Given the description of an element on the screen output the (x, y) to click on. 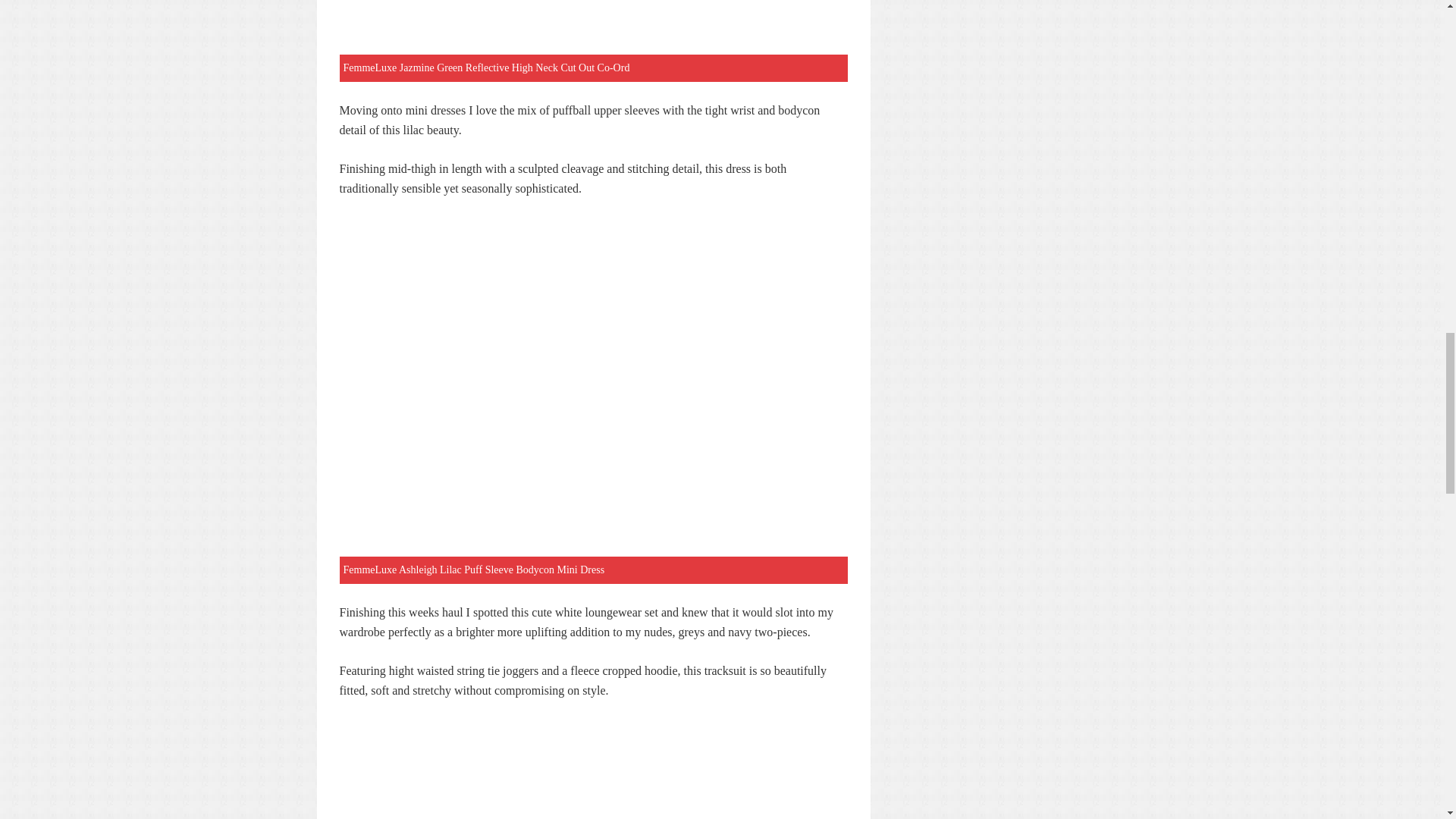
loungewear (613, 612)
mini dresses (435, 110)
FemmeLuxe Ashleigh Lilac Puff Sleeve Bodycon Mini Dress (473, 569)
FemmeLuxe Jazmine Green Reflective High Neck Cut Out Co-Ord (485, 67)
